Given the description of an element on the screen output the (x, y) to click on. 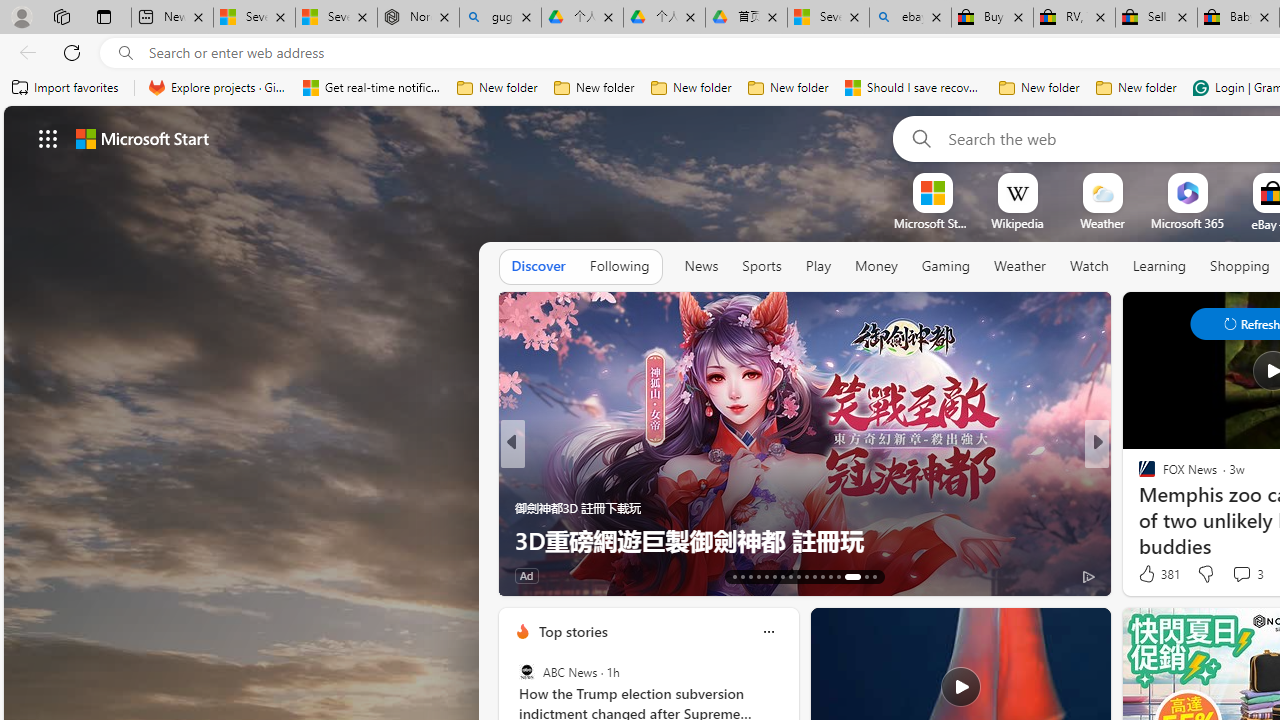
Should I save recovered Word documents? - Microsoft Support (913, 88)
AutomationID: tab-22 (806, 576)
381 Like (1157, 574)
AutomationID: tab-15 (750, 576)
AutomationID: tab-20 (789, 576)
AutomationID: tab-24 (821, 576)
AutomationID: tab-18 (774, 576)
View comments 3 Comment (1247, 574)
Class: icon-img (768, 632)
AutomationID: tab-21 (797, 576)
